Given the description of an element on the screen output the (x, y) to click on. 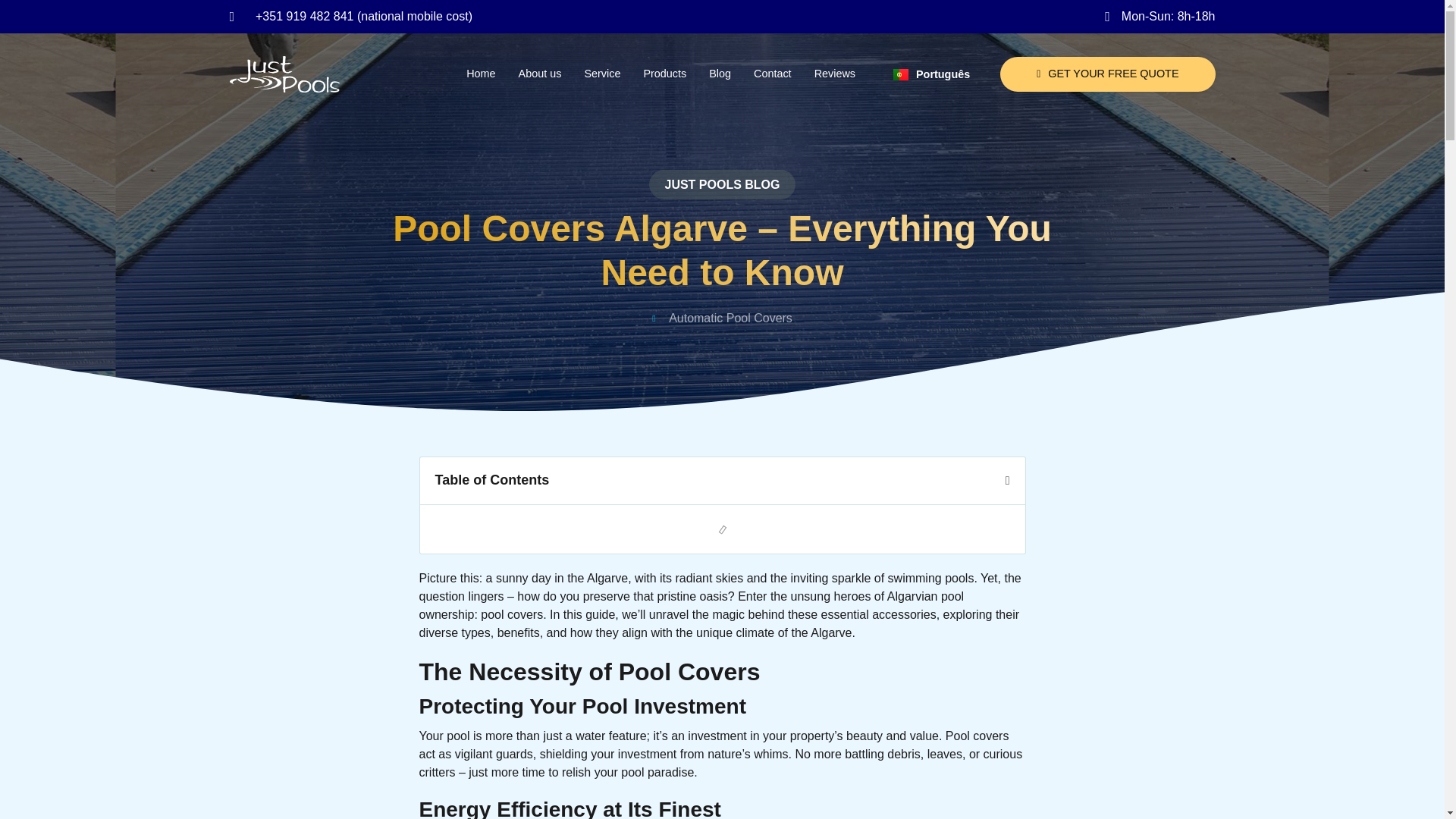
Blog (719, 74)
Home (480, 74)
GET YOUR FREE QUOTE (1107, 73)
Contact (773, 74)
About us (540, 74)
Reviews (834, 74)
Products (664, 74)
Service (601, 74)
Automatic Pool Covers (730, 318)
